Given the description of an element on the screen output the (x, y) to click on. 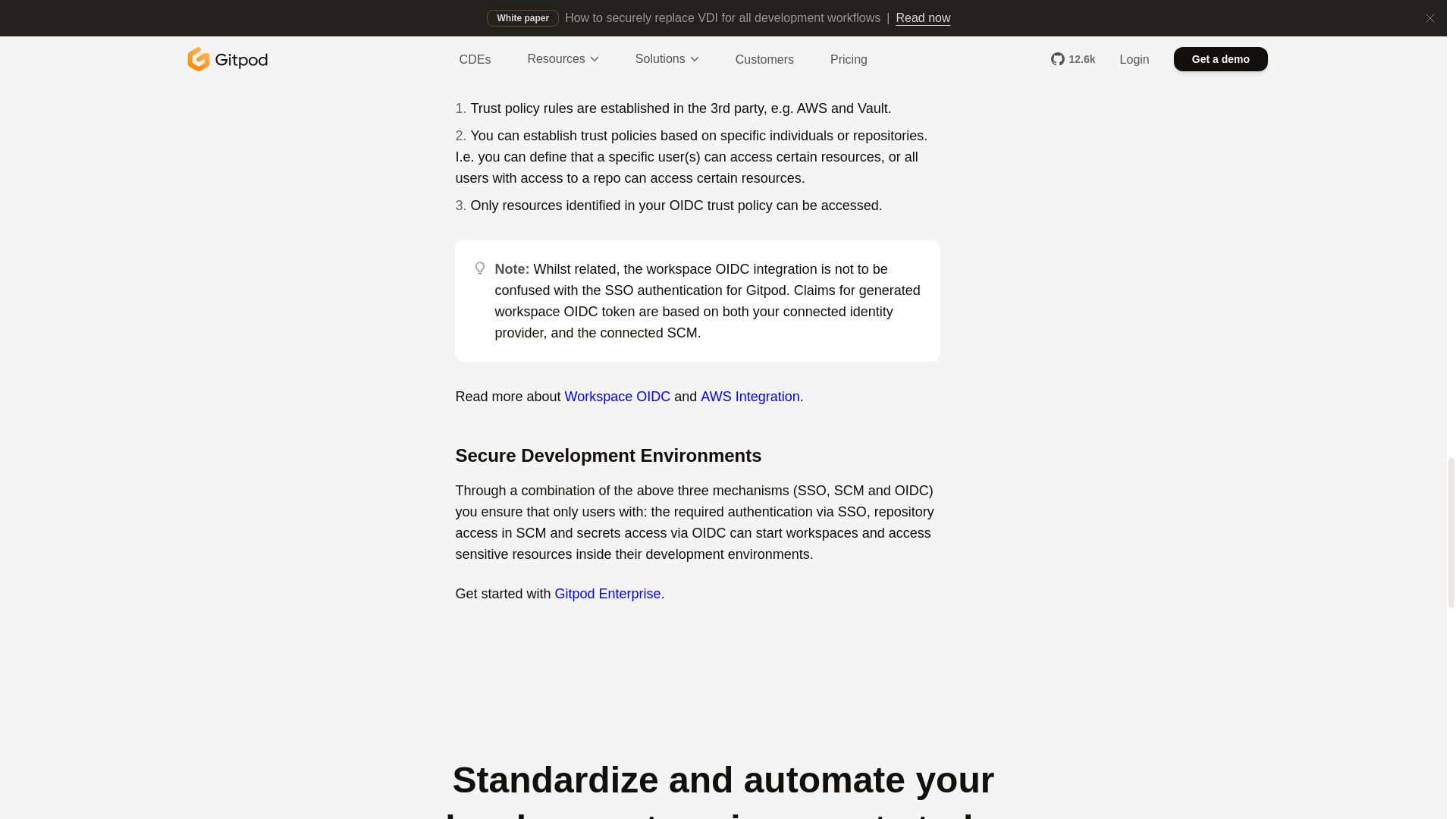
Workspace OIDC (617, 396)
Gitpod Enterprise (607, 593)
AWS Integration (749, 396)
